Given the description of an element on the screen output the (x, y) to click on. 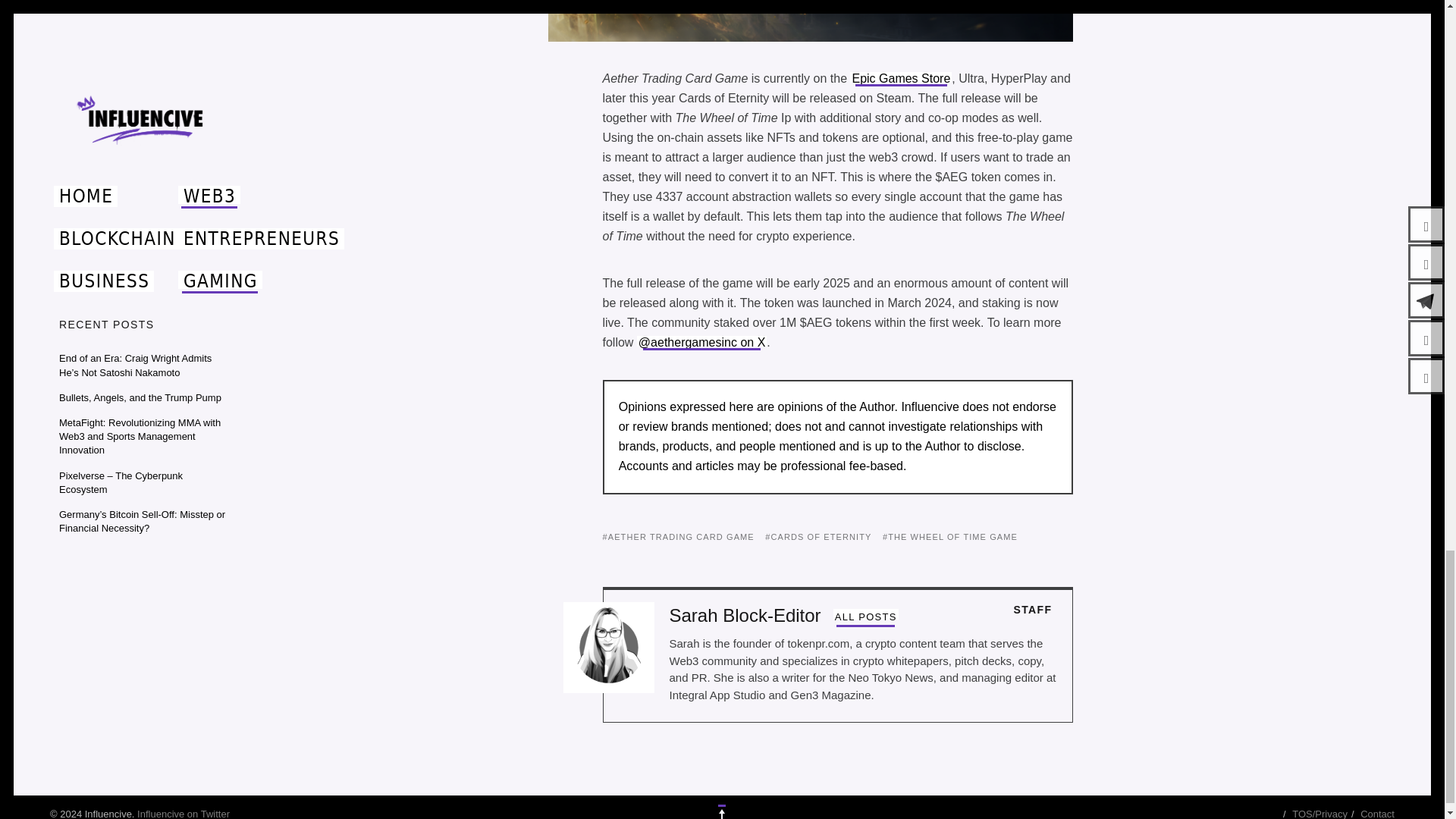
CARDS OF ETERNITY (817, 536)
THE WHEEL OF TIME GAME (949, 536)
AETHER TRADING CARD GAME (678, 536)
View all posts by Sarah Block-Editor (865, 617)
Epic Games Store (901, 78)
ALL POSTS (865, 617)
